Given the description of an element on the screen output the (x, y) to click on. 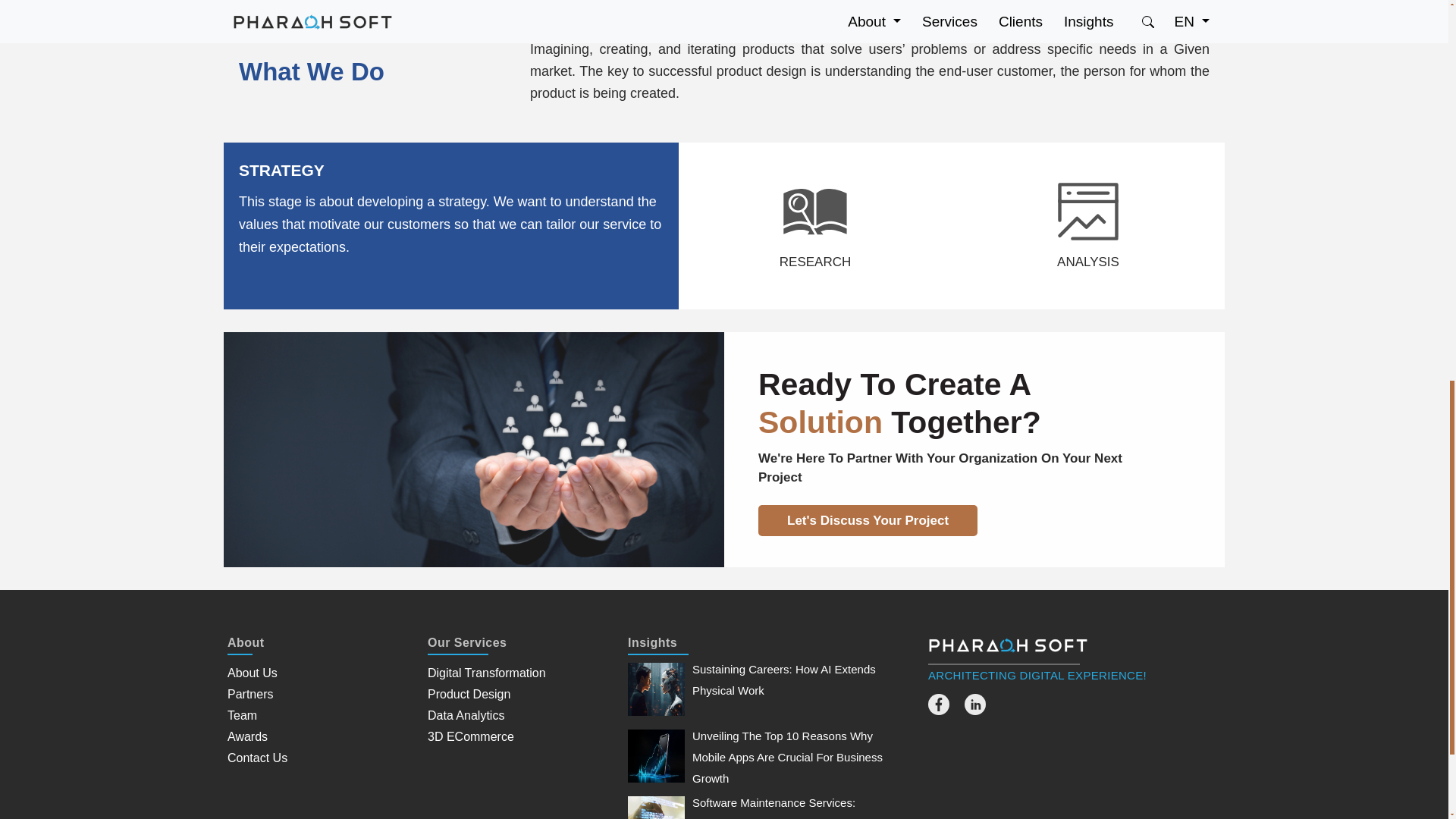
Let's Discuss Your Project (867, 520)
Team (242, 715)
Contact Us (256, 757)
About Us (252, 672)
Partners (250, 694)
Follow us on Facebook (938, 710)
Follow us on LinkedIn (974, 710)
Awards (247, 736)
